Given the description of an element on the screen output the (x, y) to click on. 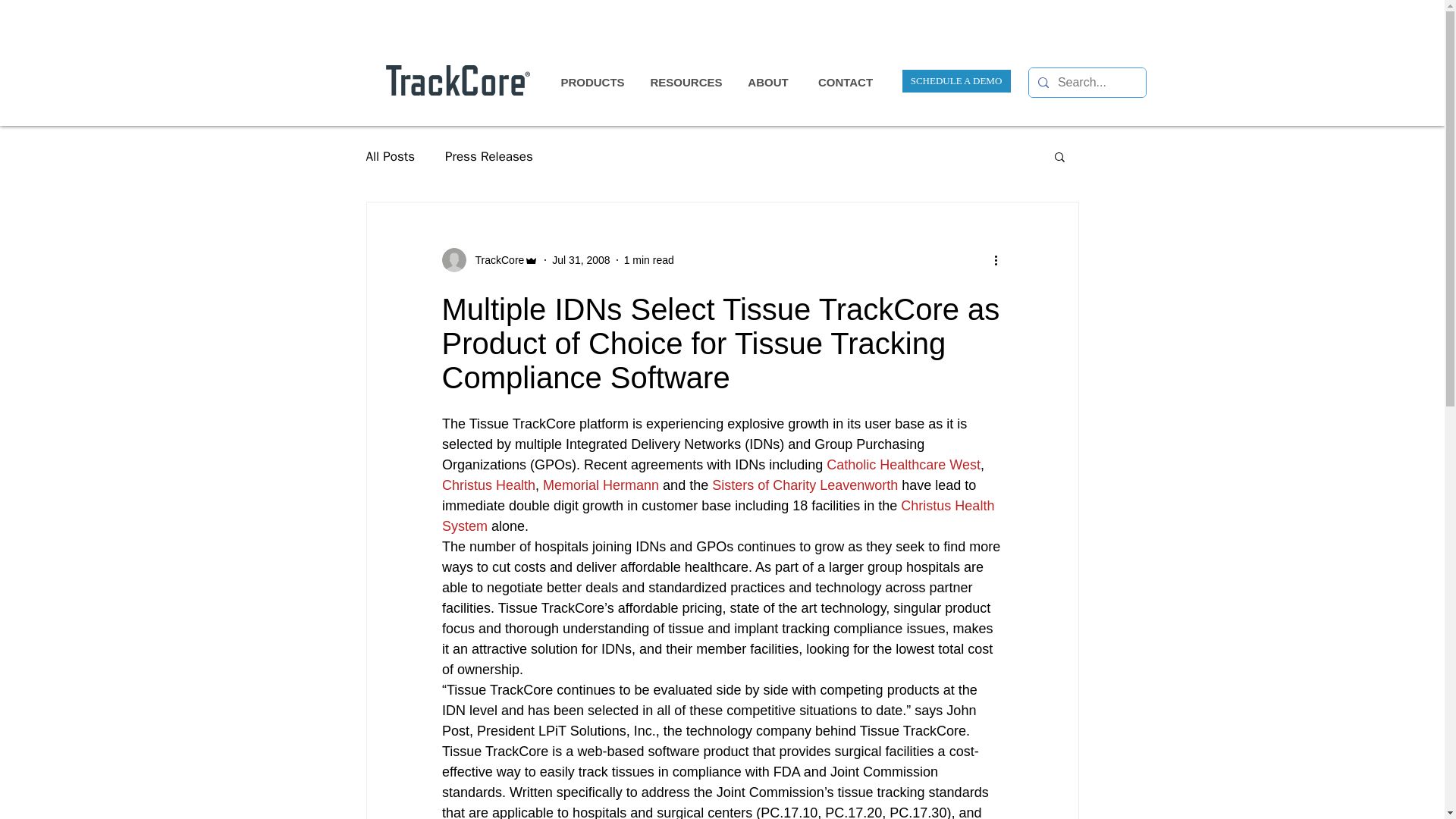
Sisters of Charity Leavenworth (804, 485)
TrackCore (494, 259)
Press Releases (488, 155)
RESOURCES (686, 82)
Catholic Healthcare West (903, 464)
Jul 31, 2008 (580, 259)
SCHEDULE A DEMO (956, 80)
1 min read (649, 259)
Christus Health (487, 485)
ABOUT (768, 82)
